Given the description of an element on the screen output the (x, y) to click on. 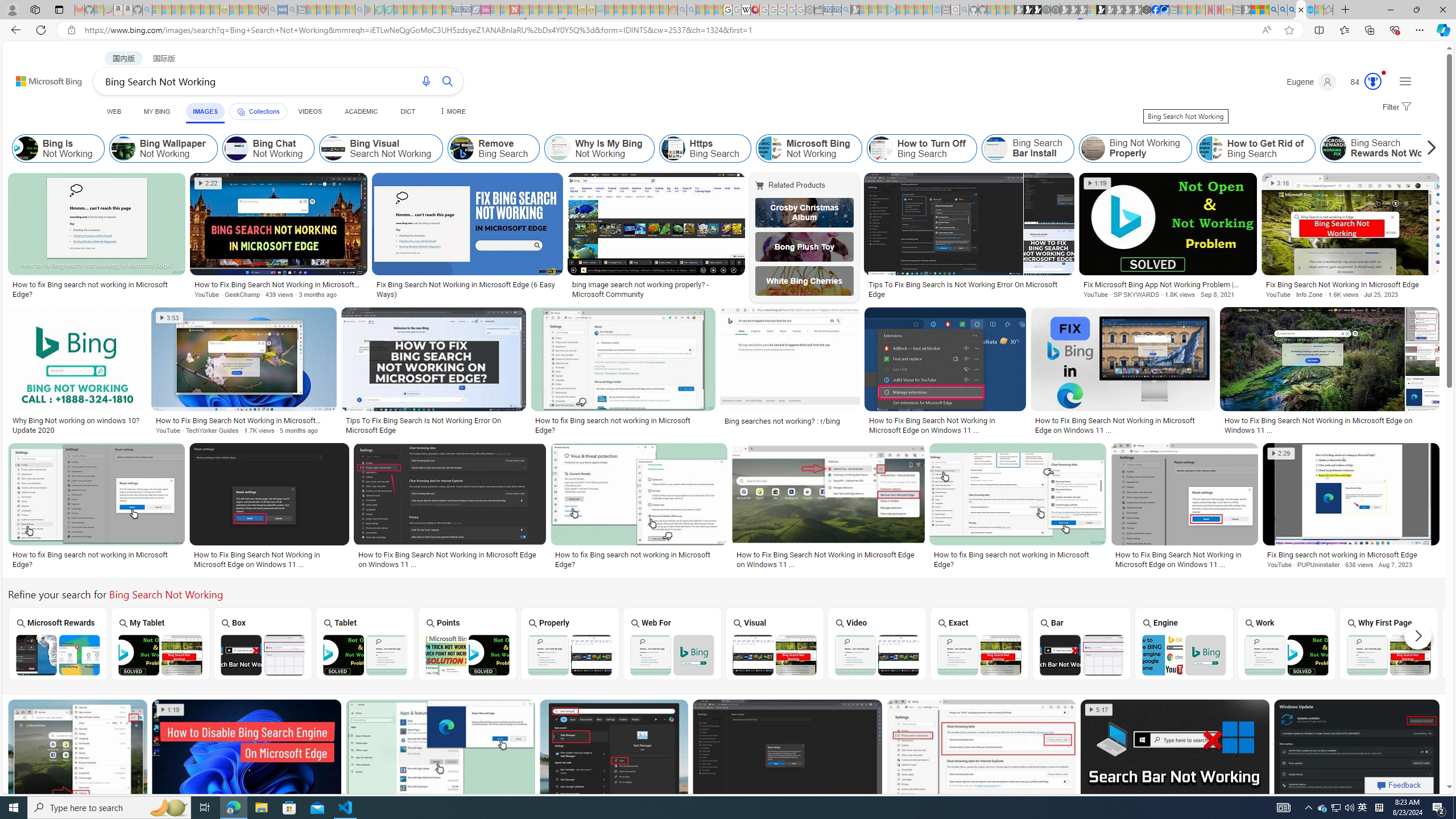
Microsoft Rewards Bing Search Not Working (57, 655)
Why Bing Not working on windows 10? Update 2020 (77, 425)
Points (467, 643)
3:16 (1280, 183)
ACADEMIC (360, 111)
Services - Maintenance | Sky Blue Bikes - Sky Blue Bikes (1309, 9)
Why First Page (1388, 643)
Https Bing Search (705, 148)
Bing Work Search Not Working Work (1286, 643)
